Given the description of an element on the screen output the (x, y) to click on. 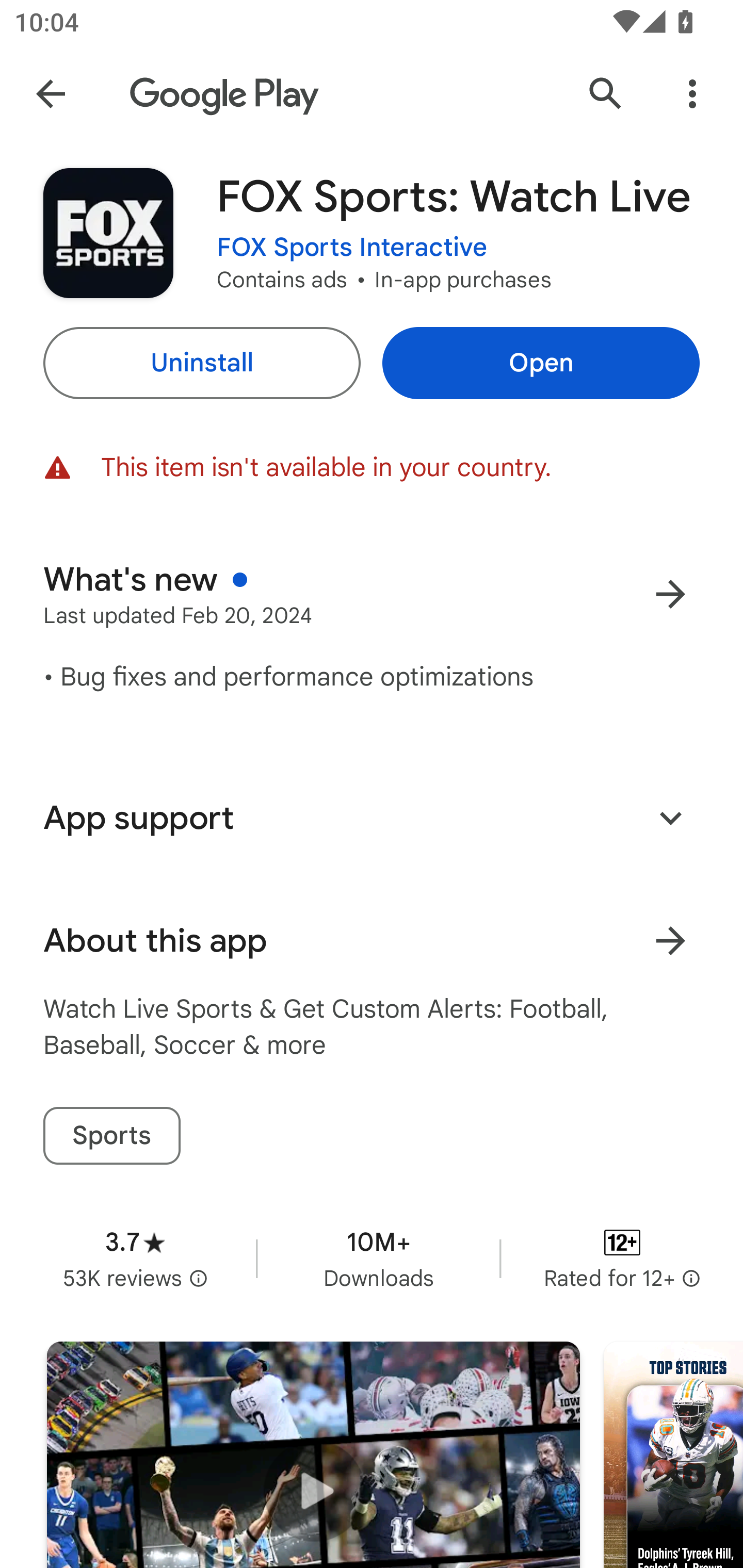
Navigate up (50, 93)
Search Google Play (605, 93)
More Options (692, 93)
FOX Sports Interactive (351, 247)
Uninstall (201, 362)
Open (540, 362)
More results for What's new (670, 594)
App support Expand (371, 817)
Expand (670, 817)
About this app Learn more About this app (371, 940)
Learn more About this app (670, 940)
Sports tag (111, 1135)
Average rating 3.7 stars in 53 thousand reviews (135, 1258)
Content rating Rated for 12+ (622, 1258)
Play trailer for "FOX Sports: Watch Live" (313, 1455)
